Given the description of an element on the screen output the (x, y) to click on. 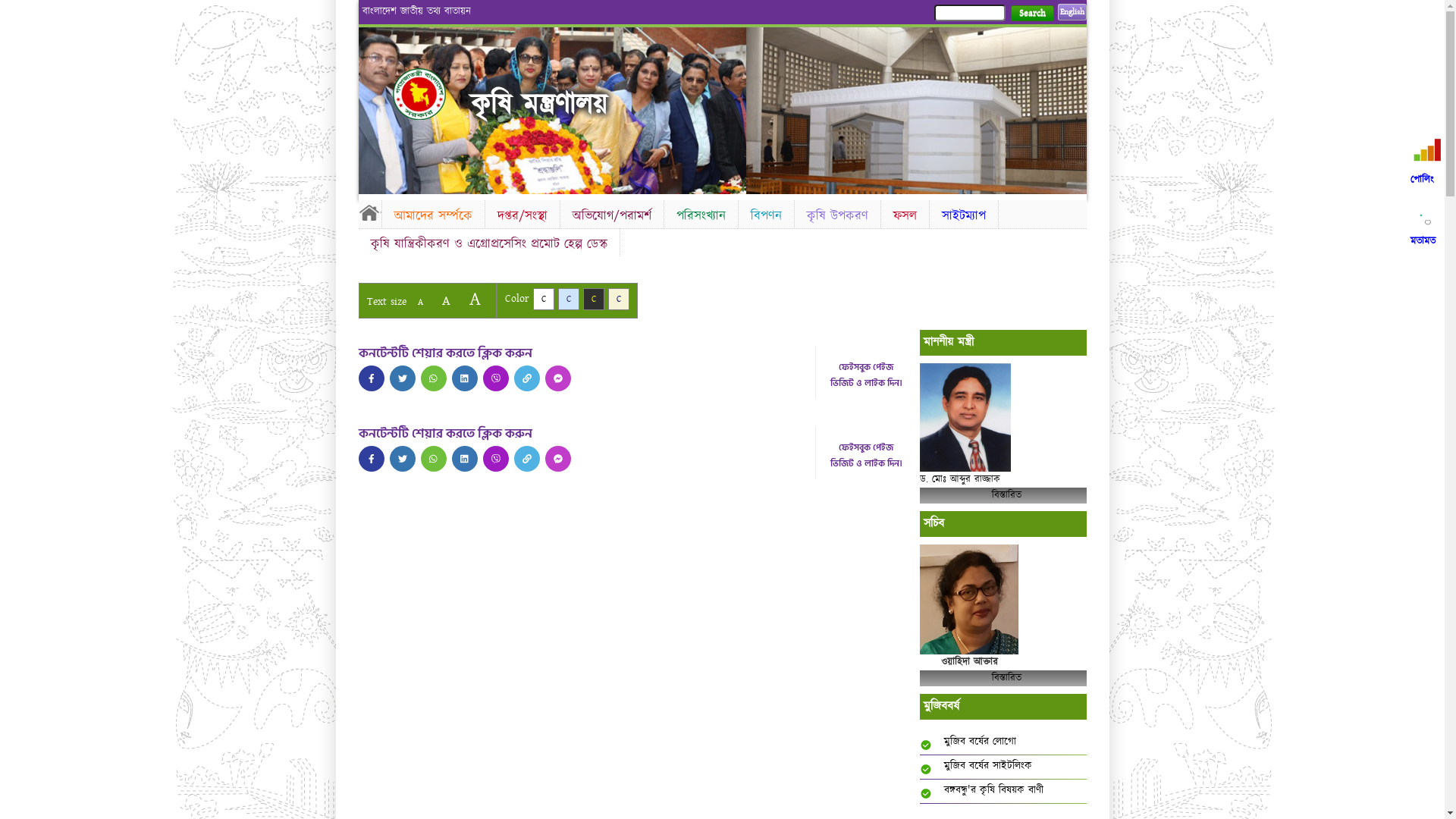
C Element type: text (618, 299)
Search Element type: text (1031, 13)
A Element type: text (445, 300)
C Element type: text (592, 299)
A Element type: text (419, 301)
Home Element type: hover (368, 211)
A Element type: text (474, 298)
C Element type: text (542, 299)
English Element type: text (1071, 11)
Home Element type: hover (431, 93)
C Element type: text (568, 299)
